Given the description of an element on the screen output the (x, y) to click on. 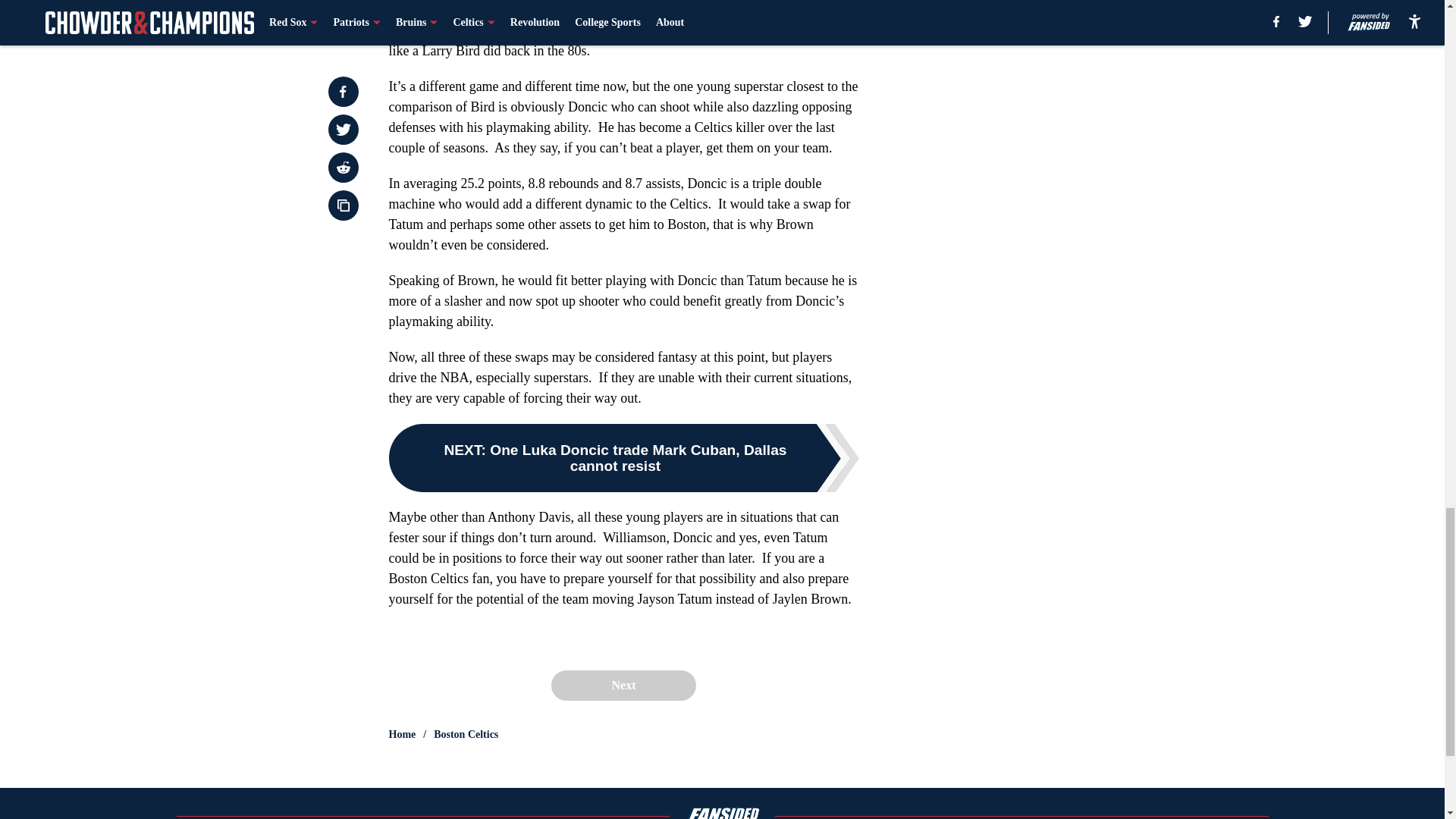
Next (622, 685)
NEXT: One Luka Doncic trade Mark Cuban, Dallas cannot resist (623, 458)
Home (401, 734)
Boston Celtics (465, 734)
